Given the description of an element on the screen output the (x, y) to click on. 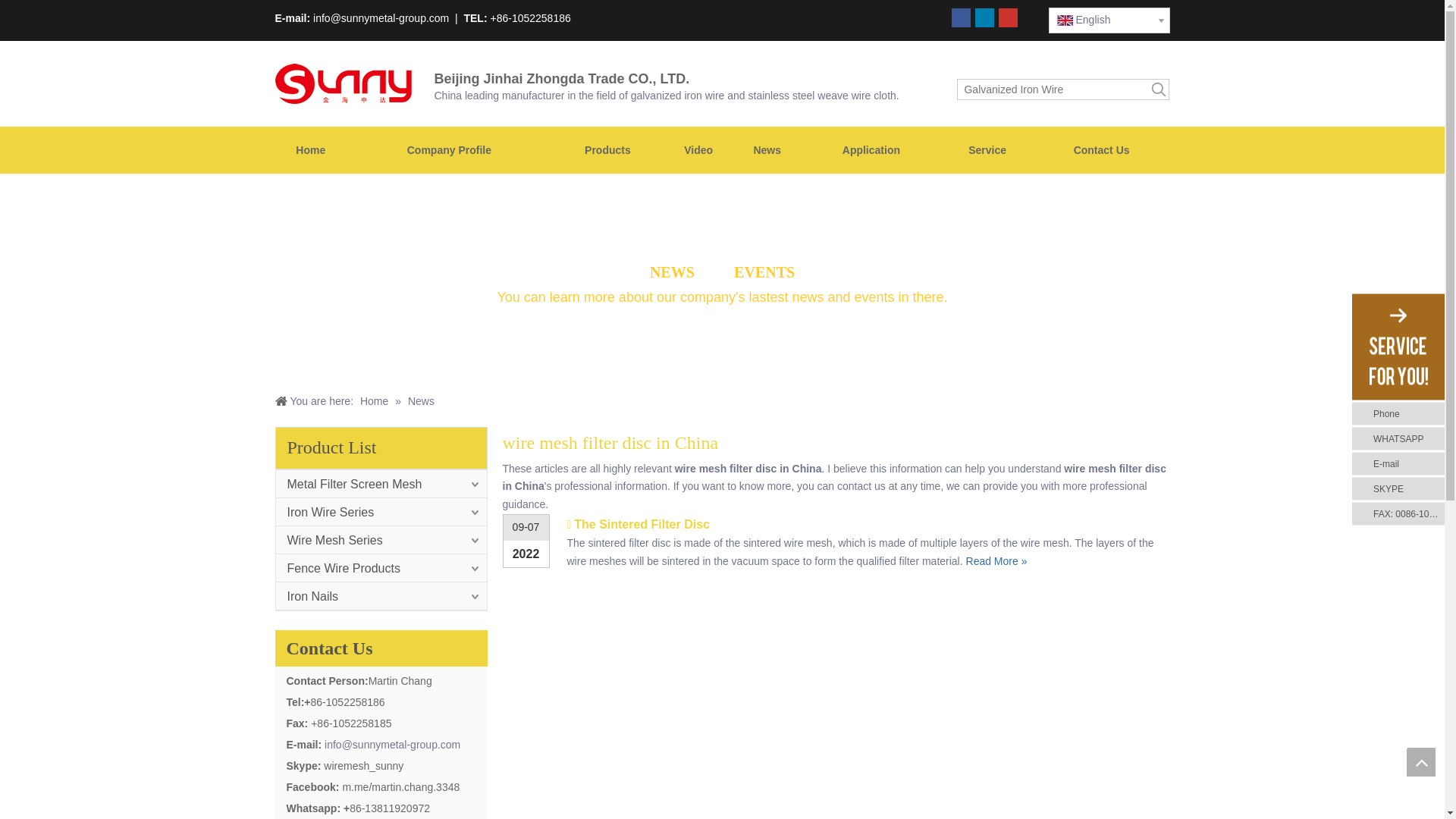
Facebook (961, 17)
Video (698, 149)
Youtube (1006, 17)
Home (310, 149)
Beijing Jinhai Zhongda Trade CO.,LTD. (342, 83)
Home (375, 400)
Company Profile (448, 149)
Contact Us (1101, 149)
Products (607, 149)
Metal Filter Screen Mesh  (381, 483)
